Given the description of an element on the screen output the (x, y) to click on. 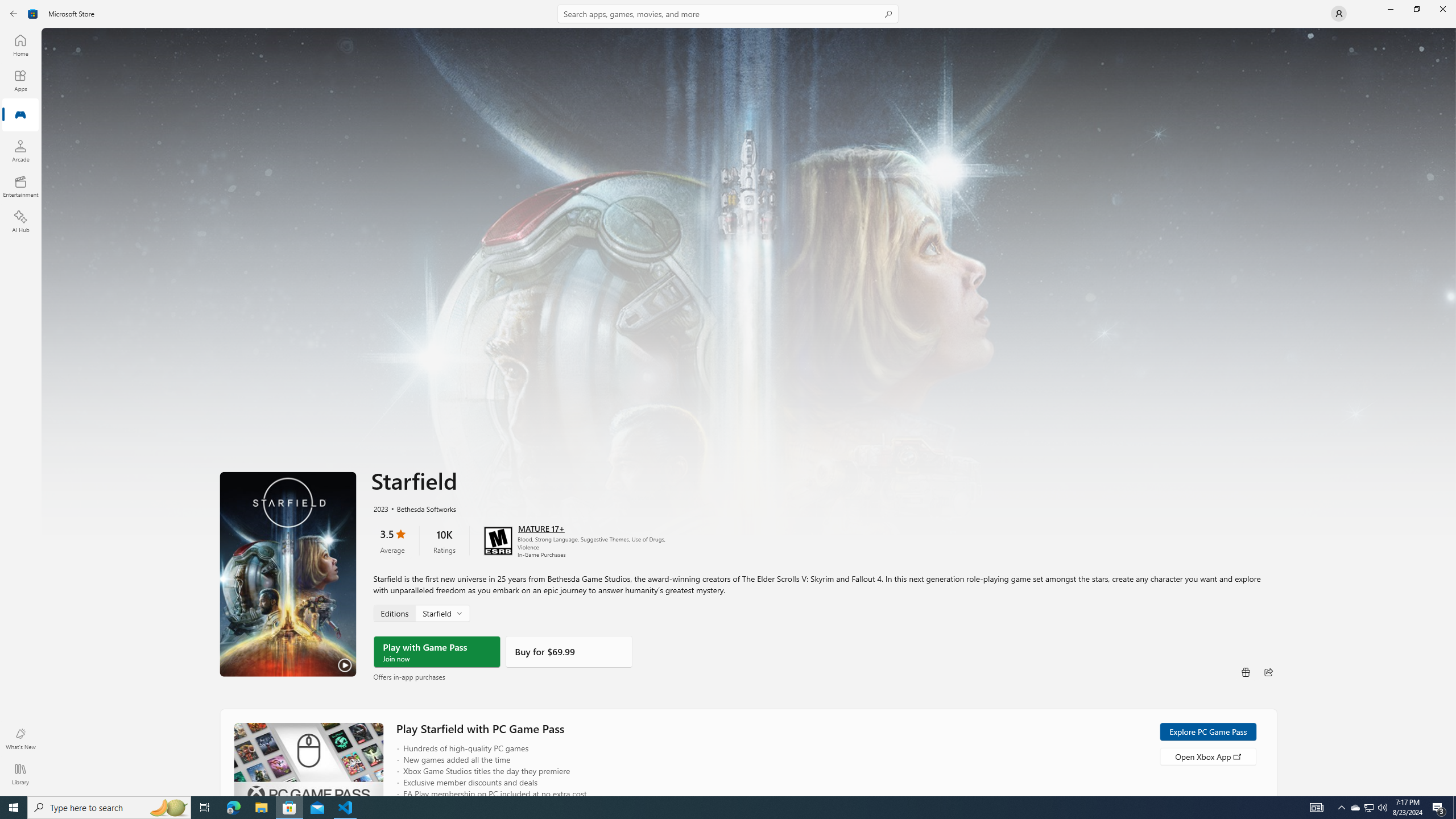
Age rating: MATURE 17+. Click for more information. (540, 527)
Back (13, 13)
Entertainment (20, 185)
Class: Image (32, 13)
Search (727, 13)
Buy (568, 651)
Apps (20, 80)
Minimize Microsoft Store (1390, 9)
Arcade (20, 150)
AutomationID: NavigationControl (728, 398)
Share (1267, 671)
Starfield, Edition selector (421, 612)
Open Xbox App (1207, 755)
